Given the description of an element on the screen output the (x, y) to click on. 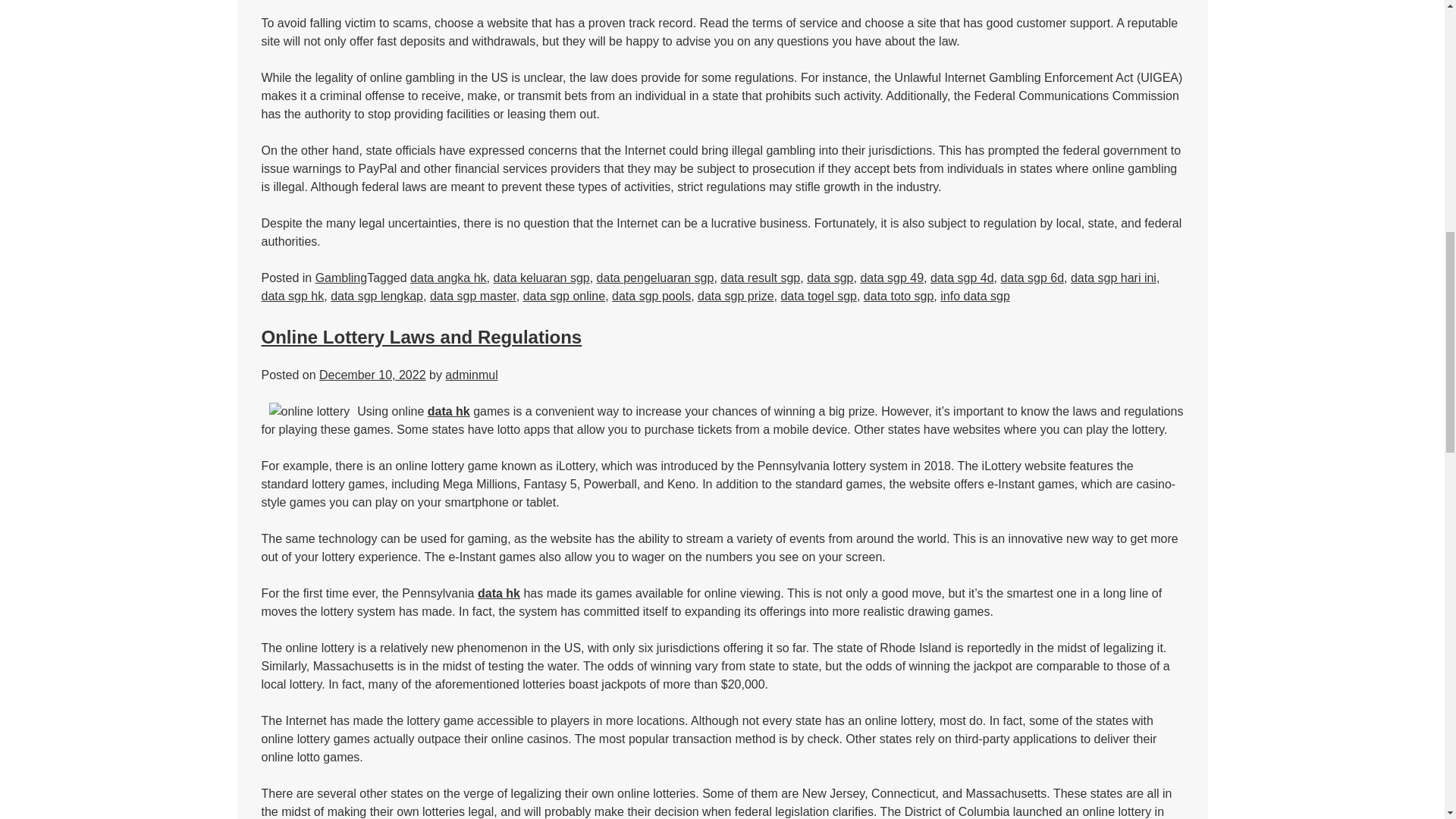
data result sgp (759, 277)
info data sgp (975, 295)
data sgp (829, 277)
data sgp prize (735, 295)
data sgp 6d (1032, 277)
December 10, 2022 (372, 374)
Online Lottery Laws and Regulations (420, 336)
data pengeluaran sgp (655, 277)
adminmul (471, 374)
data sgp online (563, 295)
data hk (498, 593)
data sgp lengkap (376, 295)
data togel sgp (818, 295)
data sgp 4d (962, 277)
Gambling (340, 277)
